Given the description of an element on the screen output the (x, y) to click on. 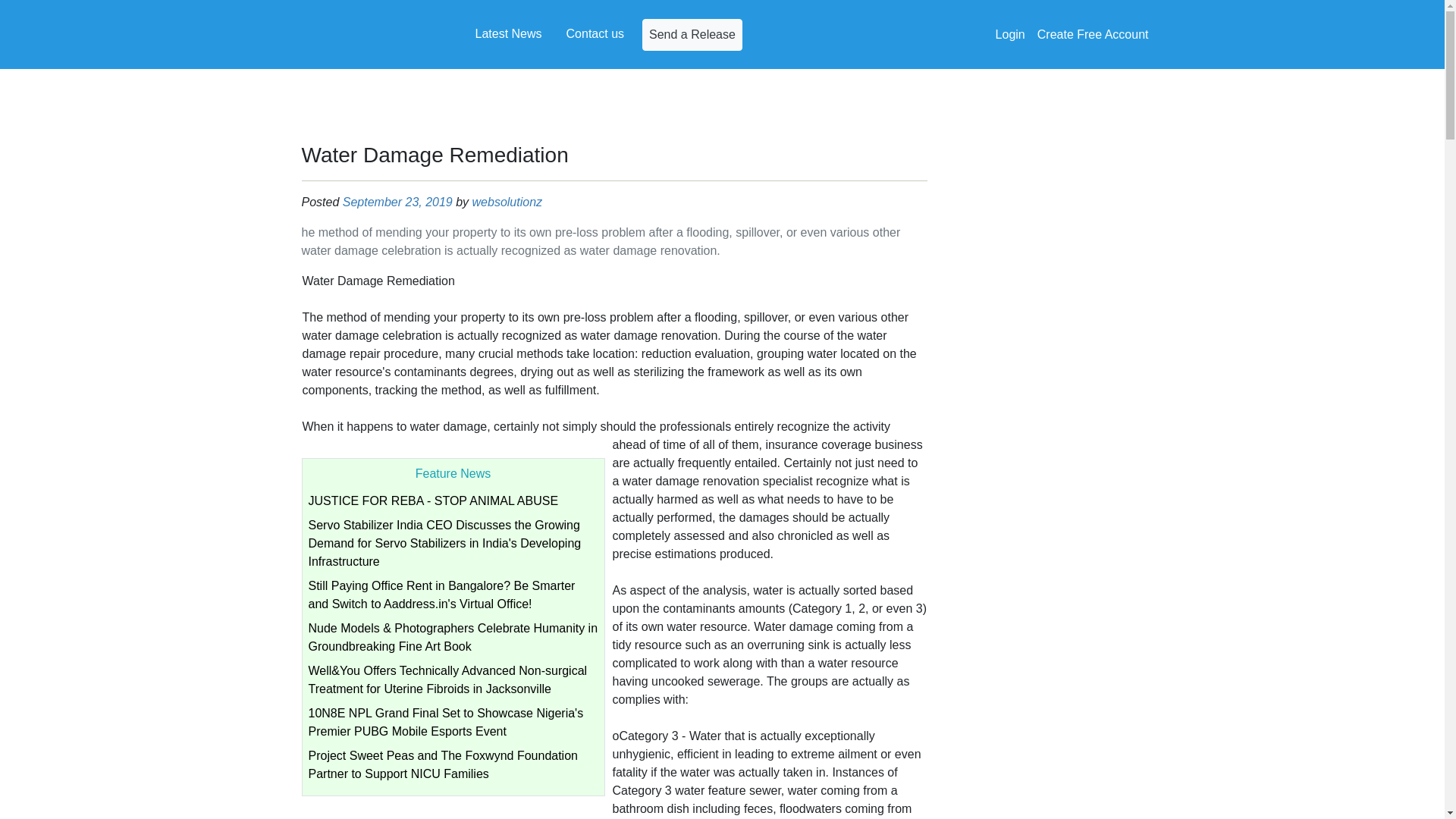
September 23, 2019 (397, 201)
Contact us (595, 33)
Send a Release (692, 33)
Login (1010, 34)
websolutionz (507, 201)
JUSTICE FOR REBA - STOP ANIMAL ABUSE (432, 500)
PFRree (357, 34)
Latest News (507, 33)
Create Free Account (1092, 34)
